Given the description of an element on the screen output the (x, y) to click on. 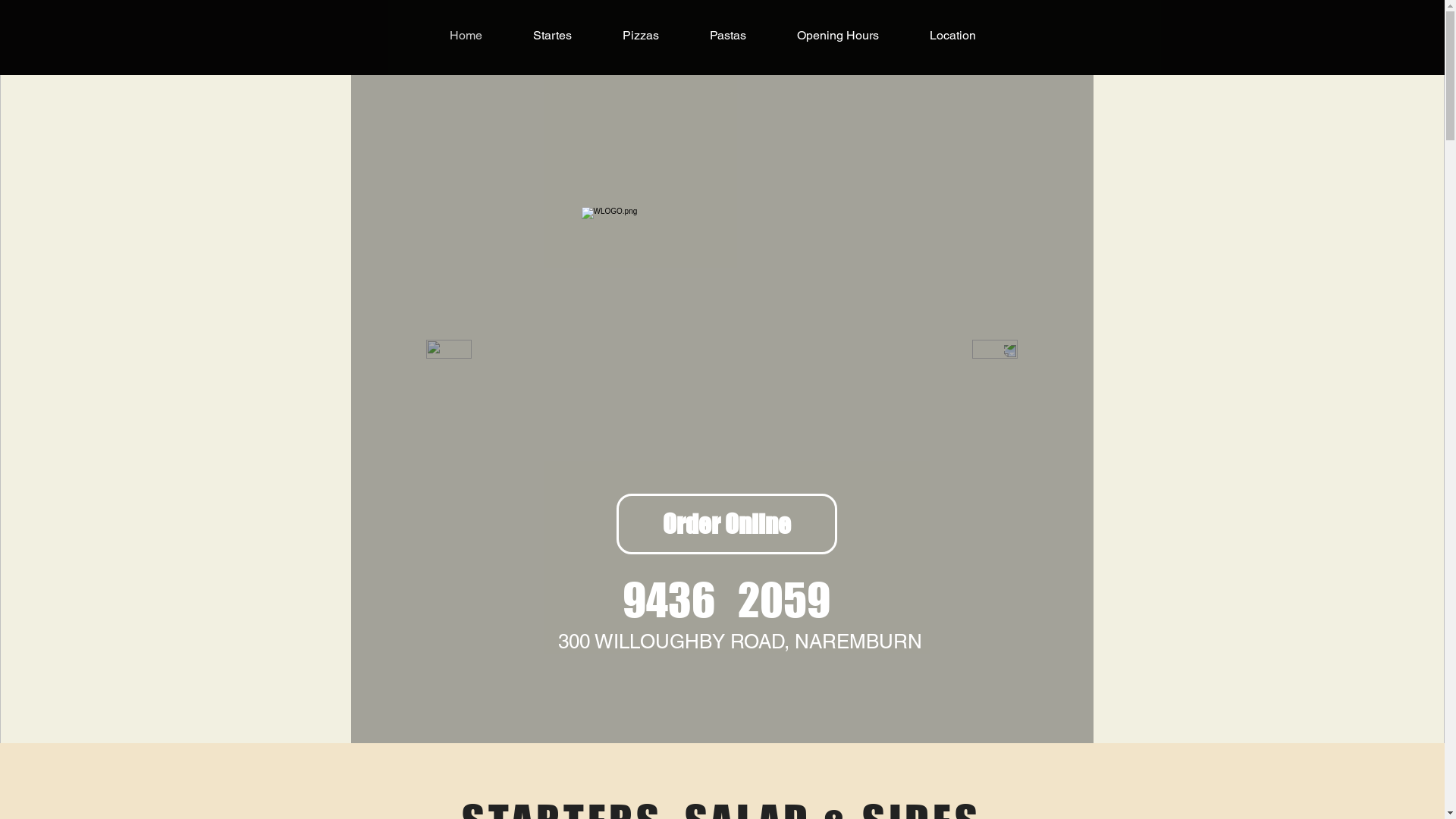
Pastas Element type: text (727, 35)
Home Element type: text (466, 35)
Opening Hours Element type: text (837, 35)
Startes Element type: text (552, 35)
Pizzas Element type: text (640, 35)
Order Online Element type: text (725, 523)
Location Element type: text (951, 35)
